Given the description of an element on the screen output the (x, y) to click on. 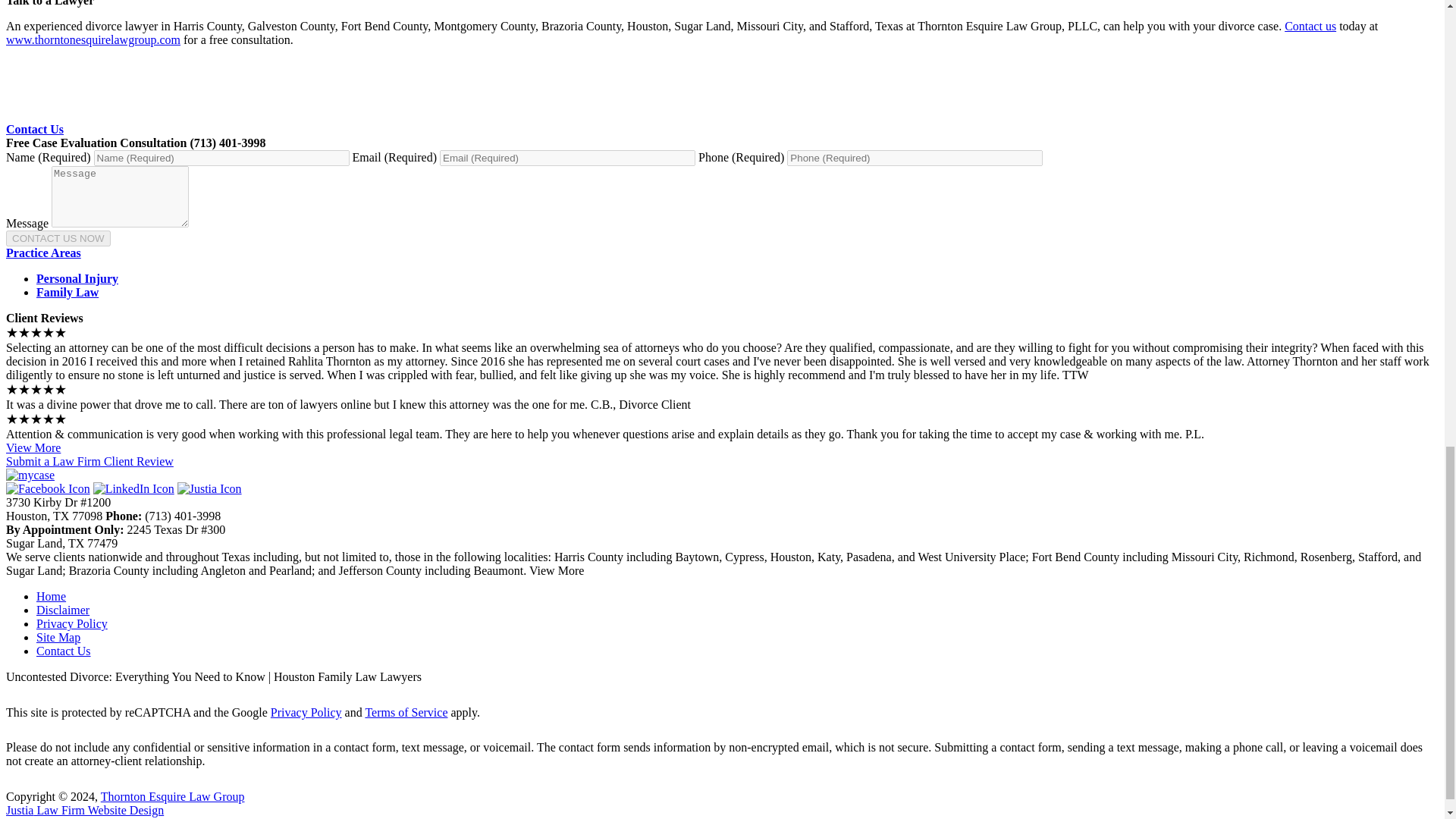
Contact Us (63, 650)
LinkedIn (133, 488)
Terms of Service (405, 712)
Home (50, 595)
Privacy Policy (306, 712)
Privacy Policy (71, 623)
Family Law (67, 291)
Facebook (47, 488)
Contact Us (34, 128)
Contact us (1310, 25)
View More (33, 447)
Site Map (58, 636)
CONTACT US NOW (57, 238)
Justia (209, 488)
Personal Injury (76, 278)
